Given the description of an element on the screen output the (x, y) to click on. 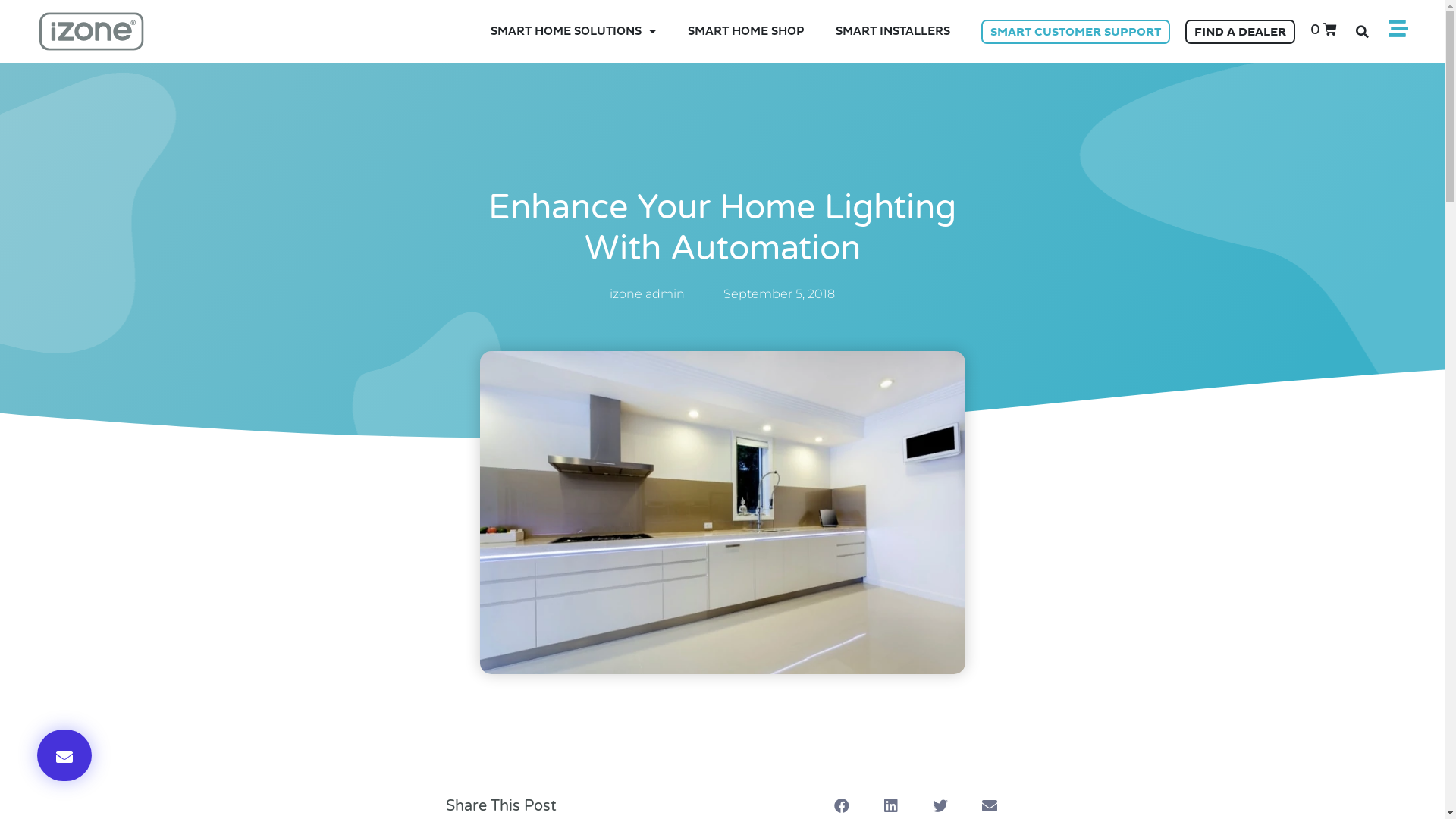
izone admin Element type: text (646, 293)
SMART HOME SHOP Element type: text (745, 31)
SMART INSTALLERS Element type: text (892, 31)
0 Element type: text (1331, 29)
SMART HOME SOLUTIONS Element type: text (572, 31)
September 5, 2018 Element type: text (778, 293)
SMART CUSTOMER SUPPORT Element type: text (1075, 31)
FIND A DEALER Element type: text (1240, 31)
